Given the description of an element on the screen output the (x, y) to click on. 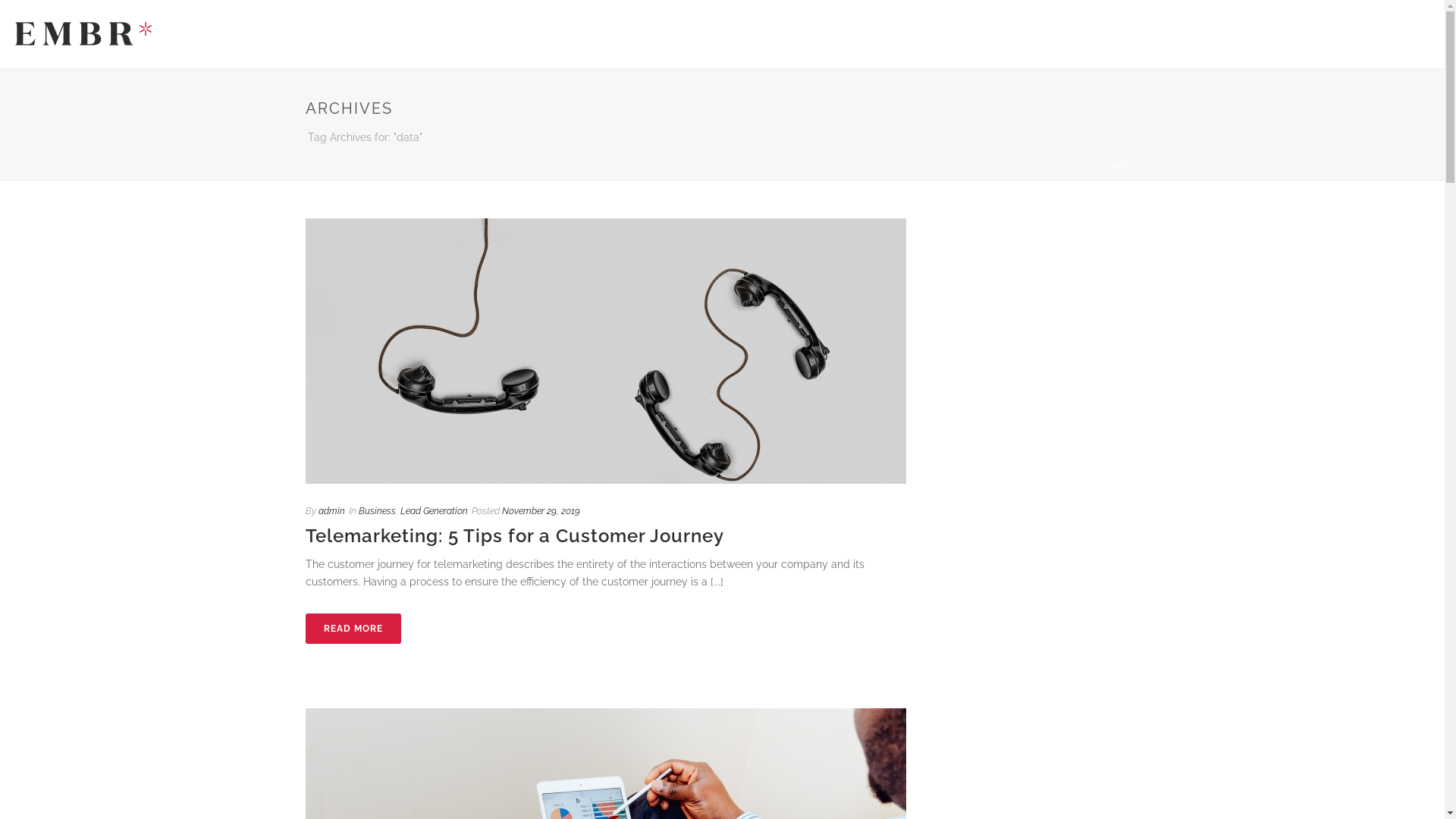
November 29, 2019 Element type: text (541, 510)
Telemarketing: 5 Tips for a Customer Journey Element type: text (513, 535)
Lead Generation Element type: text (433, 510)
HOME Element type: text (1085, 165)
Business Element type: text (376, 510)
  Element type: text (604, 350)
admin Element type: text (331, 510)
READ MORE Element type: text (352, 628)
Telemarketing: 5 Tips for a Customer Journey Element type: hover (604, 350)
